Given the description of an element on the screen output the (x, y) to click on. 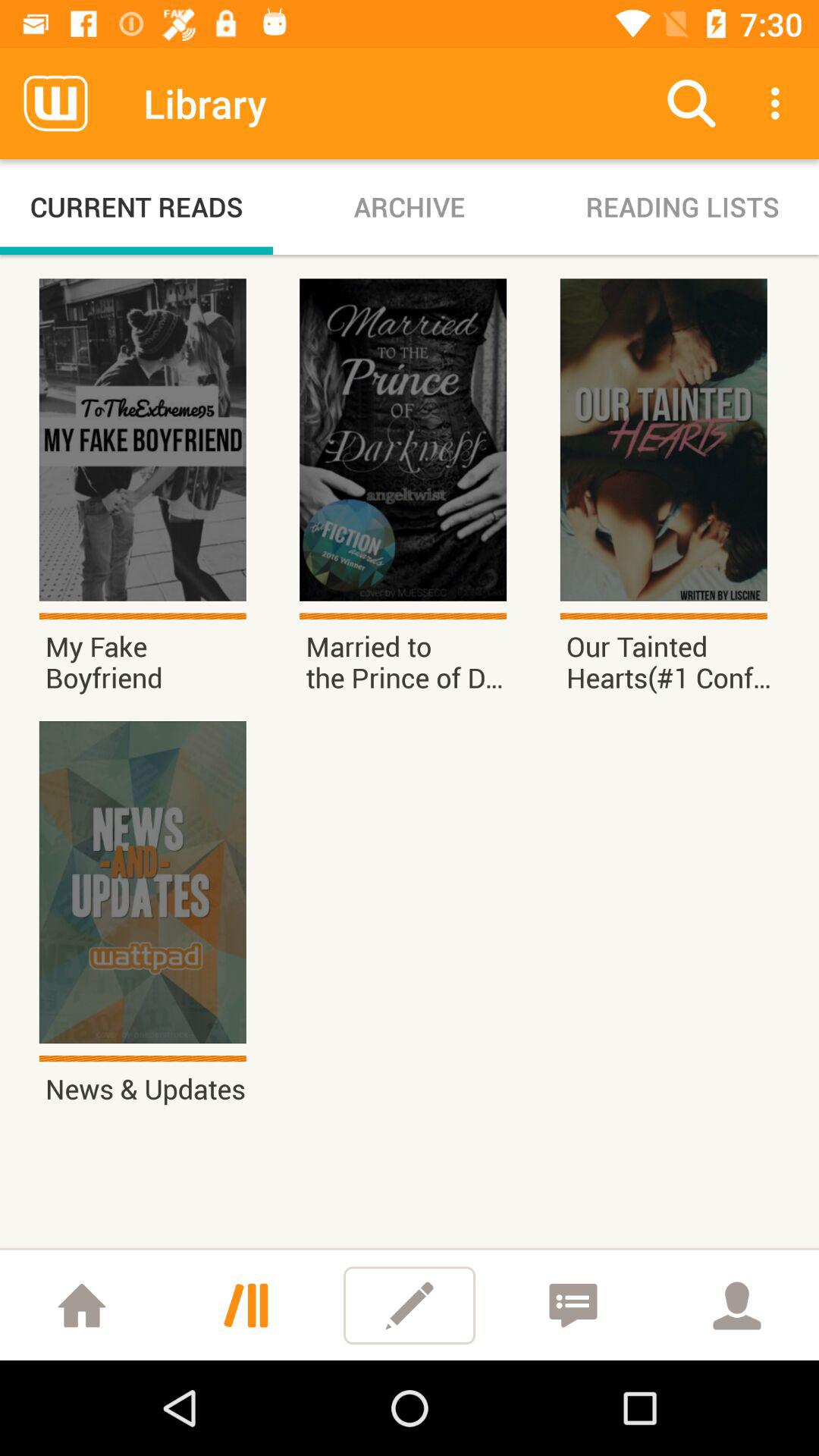
press item to the right of the archive icon (682, 206)
